Given the description of an element on the screen output the (x, y) to click on. 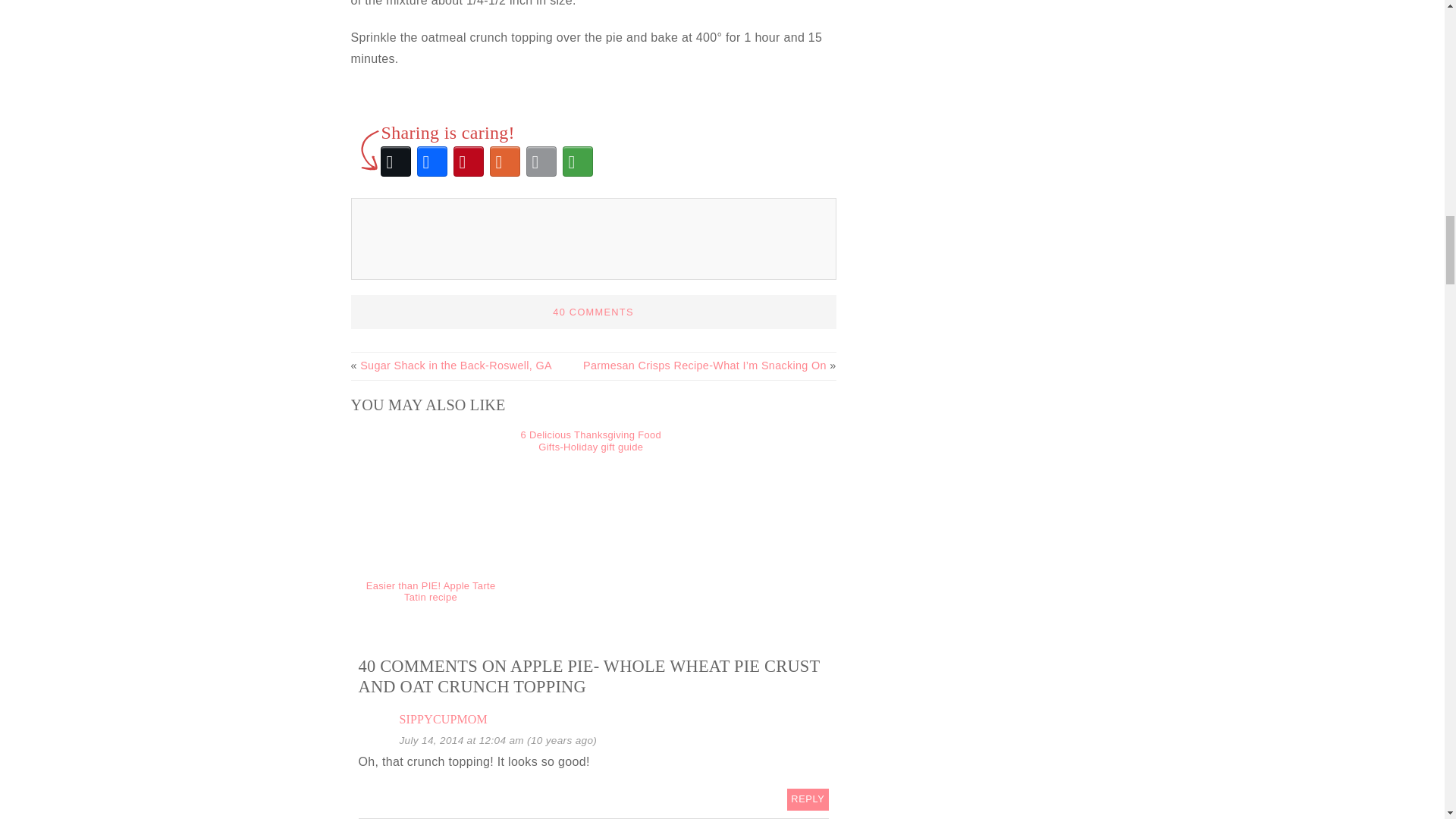
Easier than PIE! Apple Tarte Tatin recipe (431, 591)
Yummly (504, 161)
Email This (540, 161)
REPLY (807, 799)
Pinterest (467, 161)
More Options (577, 161)
Facebook (431, 161)
SIPPYCUPMOM (442, 718)
40 COMMENTS (593, 311)
6 Delicious Thanksgiving Food Gifts-Holiday gift guide (591, 440)
Sugar Shack in the Back-Roswell, GA (455, 365)
